Given the description of an element on the screen output the (x, y) to click on. 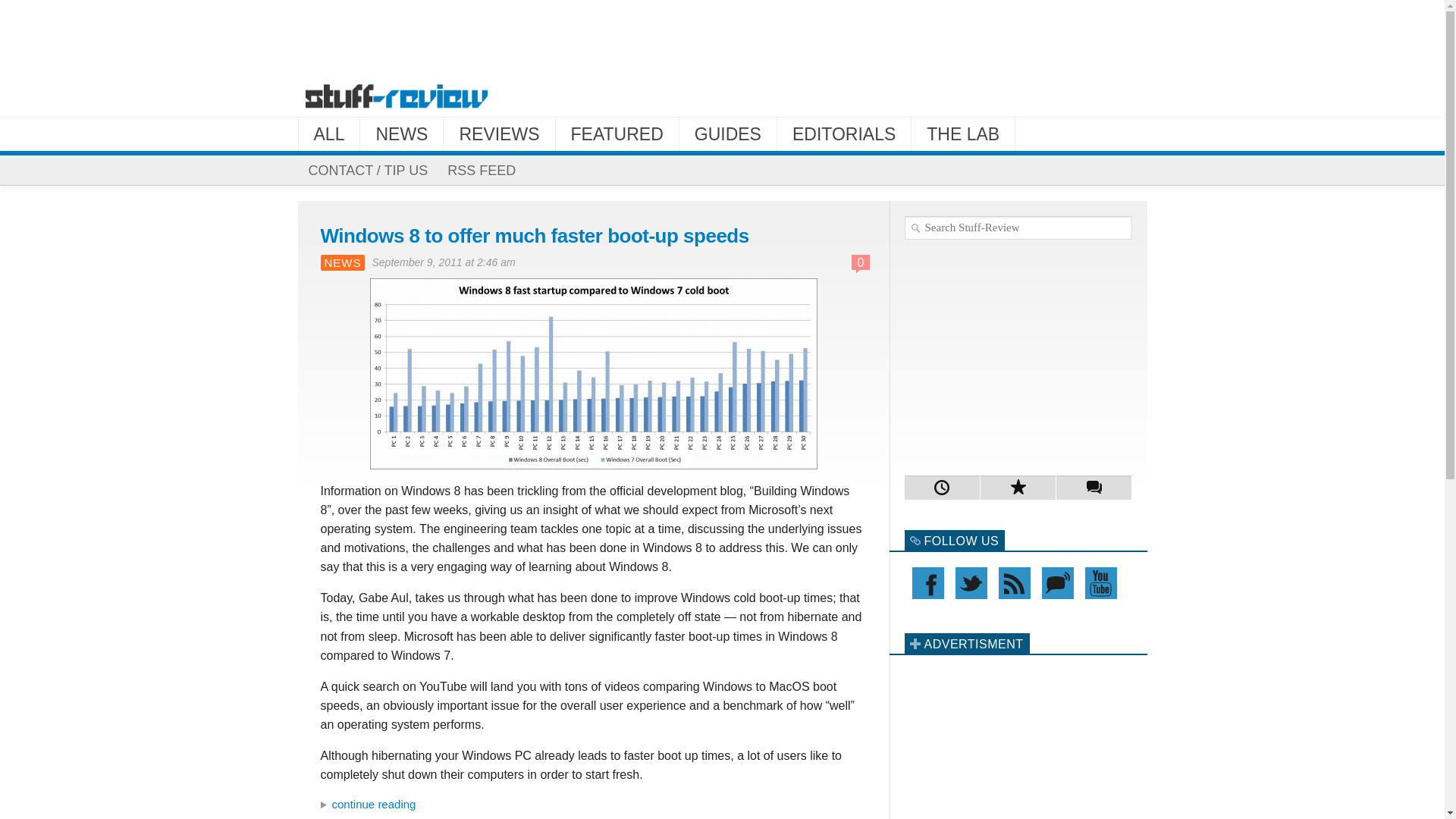
ALL (328, 133)
EDITORIALS (844, 133)
0 (860, 262)
NEWS (400, 133)
Become our Facebook friend (927, 582)
View all articles in News (342, 262)
Advertisement (721, 36)
Comments (1093, 487)
THE LAB (962, 133)
RSS FEED (480, 170)
Recent (941, 487)
Windows 8 to offer much faster boot-up speeds (534, 235)
Advertisement (1017, 352)
REVIEWS (499, 133)
FEATURED (617, 133)
